Given the description of an element on the screen output the (x, y) to click on. 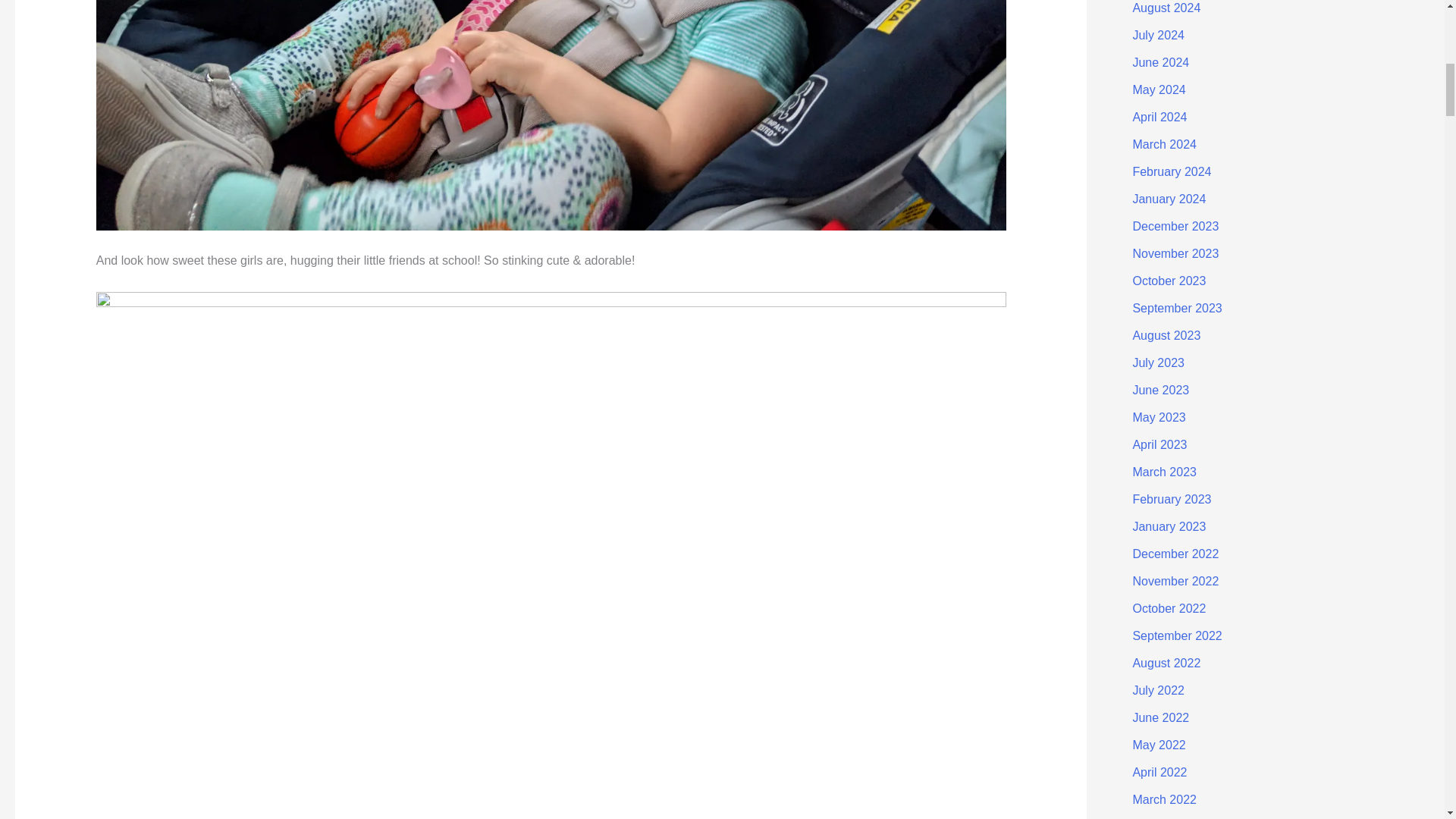
October 2023 (1168, 280)
February 2024 (1171, 171)
January 2024 (1168, 198)
June 2024 (1160, 62)
May 2024 (1158, 89)
August 2024 (1165, 7)
July 2024 (1158, 34)
November 2023 (1175, 253)
September 2023 (1176, 308)
December 2023 (1175, 226)
April 2024 (1159, 116)
March 2024 (1164, 144)
August 2023 (1165, 335)
